Given the description of an element on the screen output the (x, y) to click on. 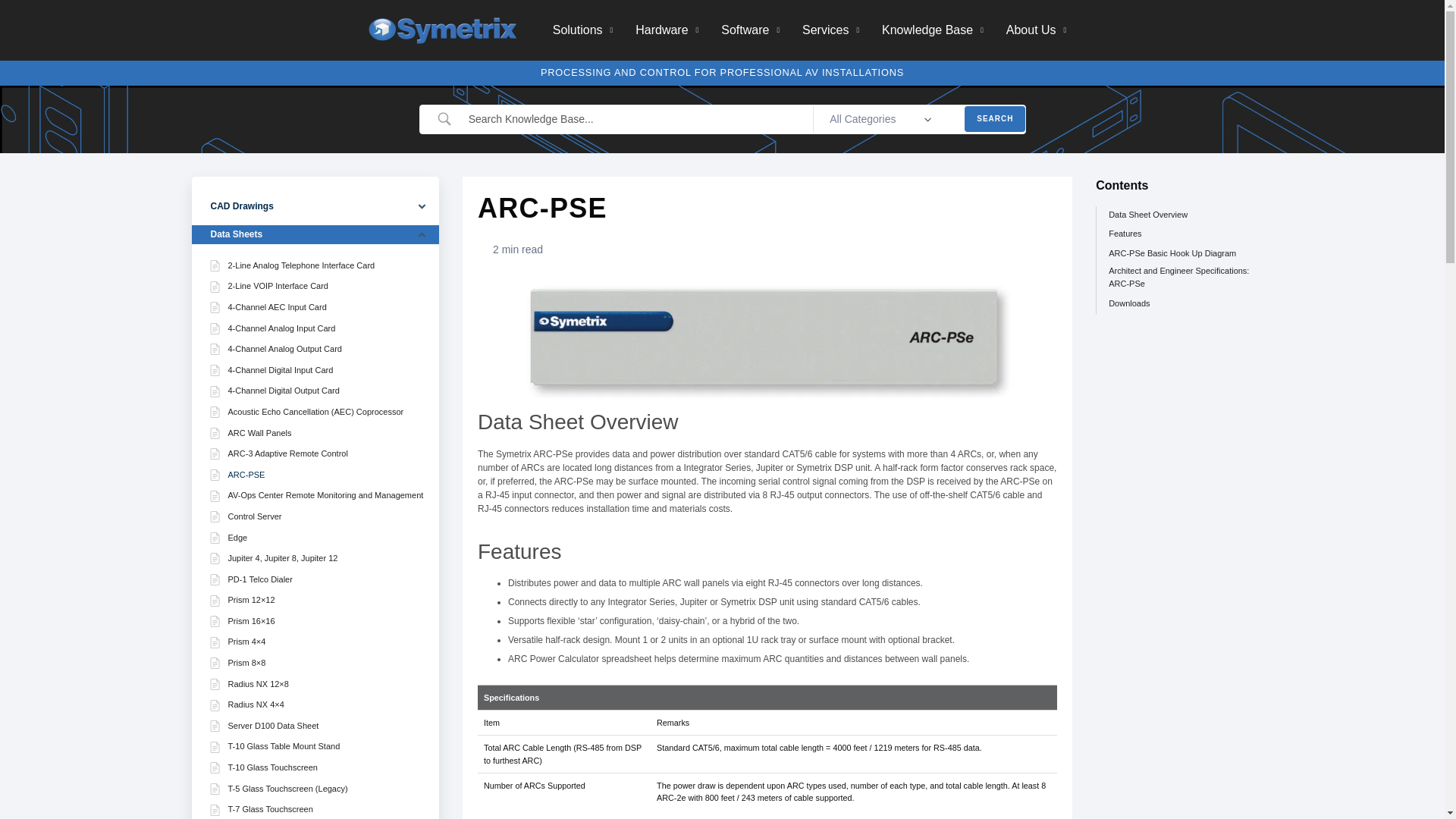
Hardware (667, 30)
Search (994, 118)
Search (994, 118)
Software (750, 30)
Pic1-8 - Symetrix (767, 341)
Official Symetrix Logo (442, 30)
Solutions (582, 30)
